Given the description of an element on the screen output the (x, y) to click on. 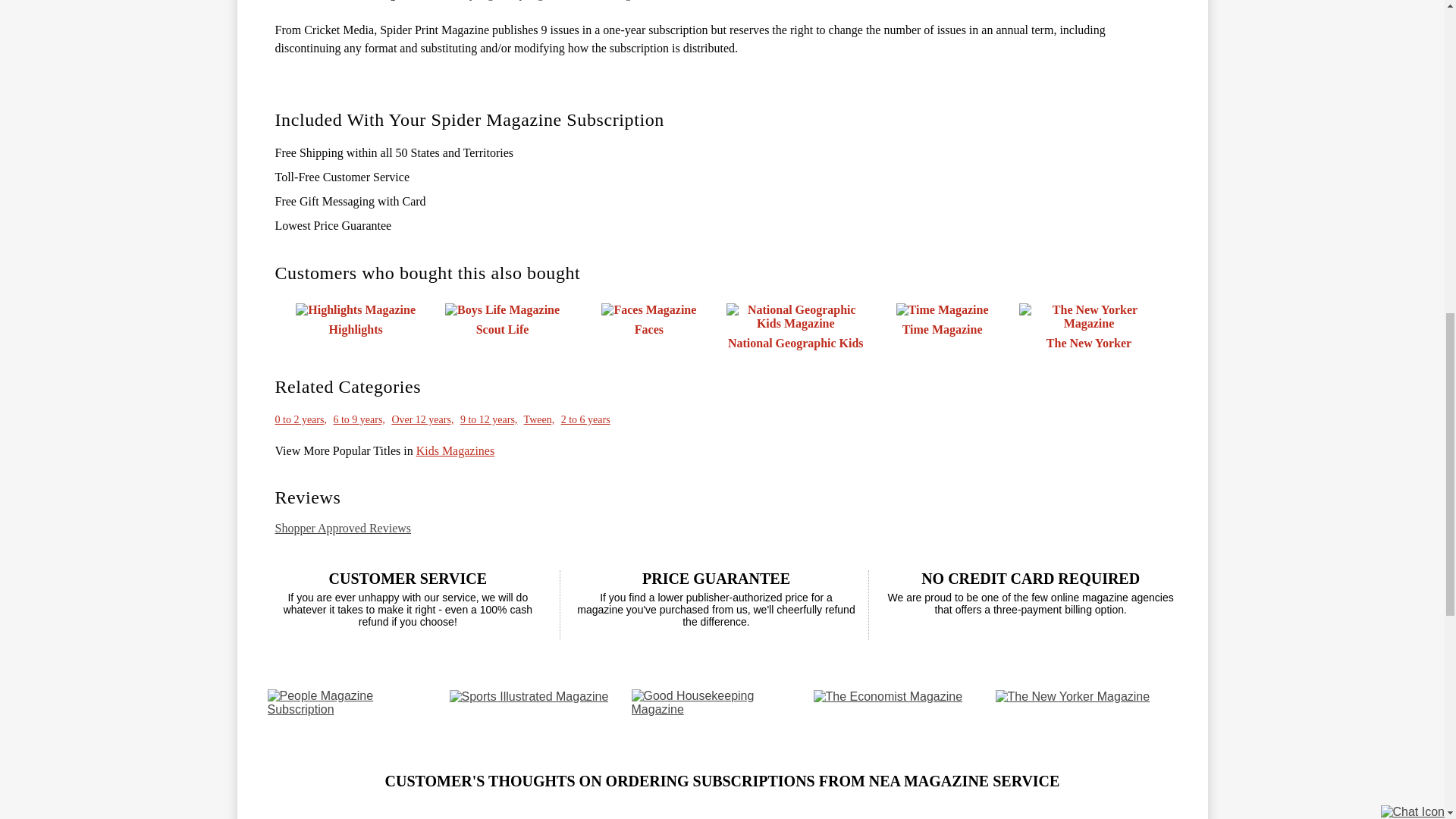
Time Magazine (941, 319)
Faces (648, 319)
Sports Illustrated Magazine (528, 695)
The Economist Magazine (887, 695)
National Geographic Kids (795, 326)
People Magazine Subscription (351, 701)
Highlights (355, 319)
Boys Life (502, 319)
The New Yorker (1088, 326)
The New Yorker Magazine (1072, 695)
